Given the description of an element on the screen output the (x, y) to click on. 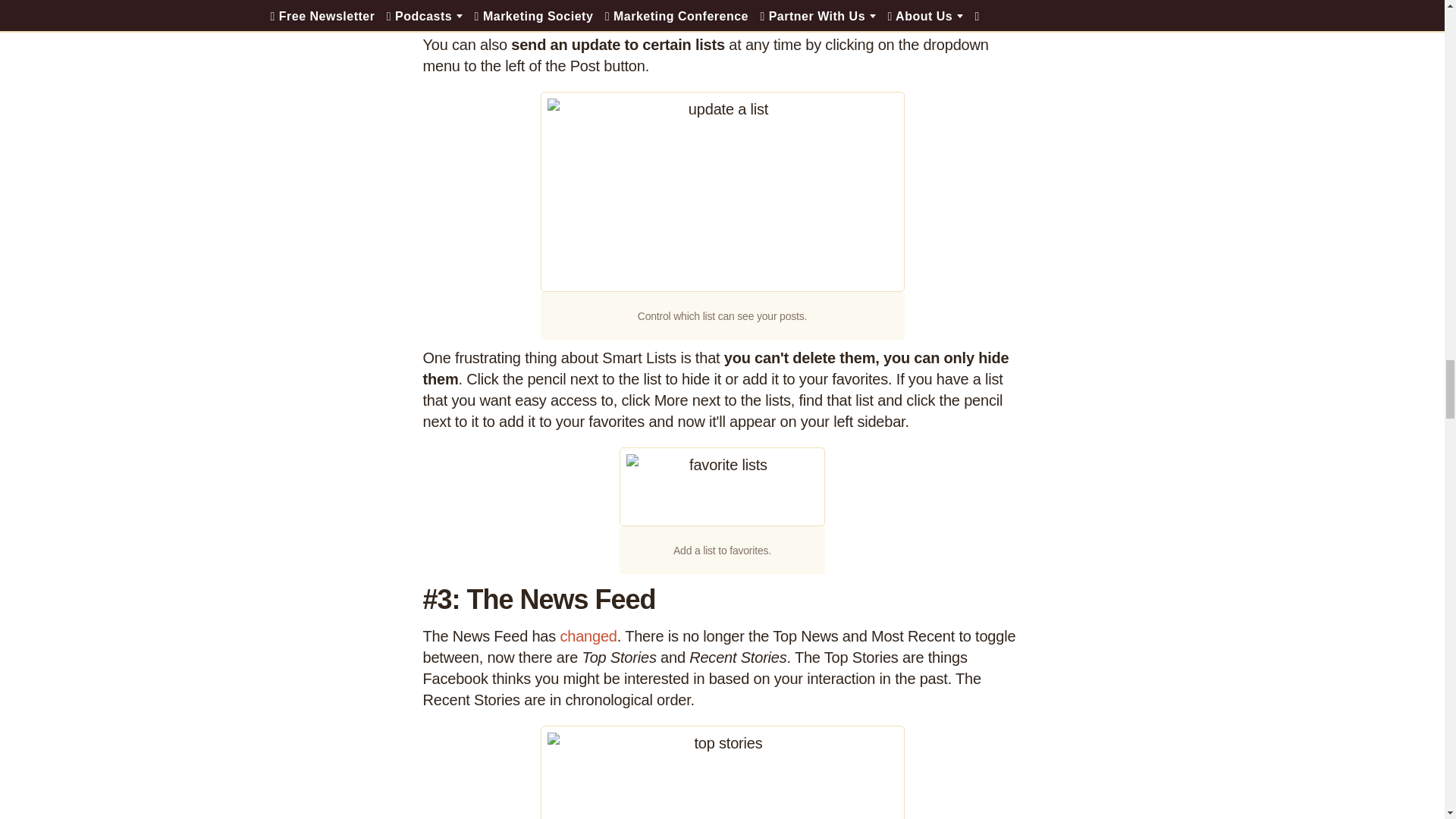
changed (587, 636)
